Given the description of an element on the screen output the (x, y) to click on. 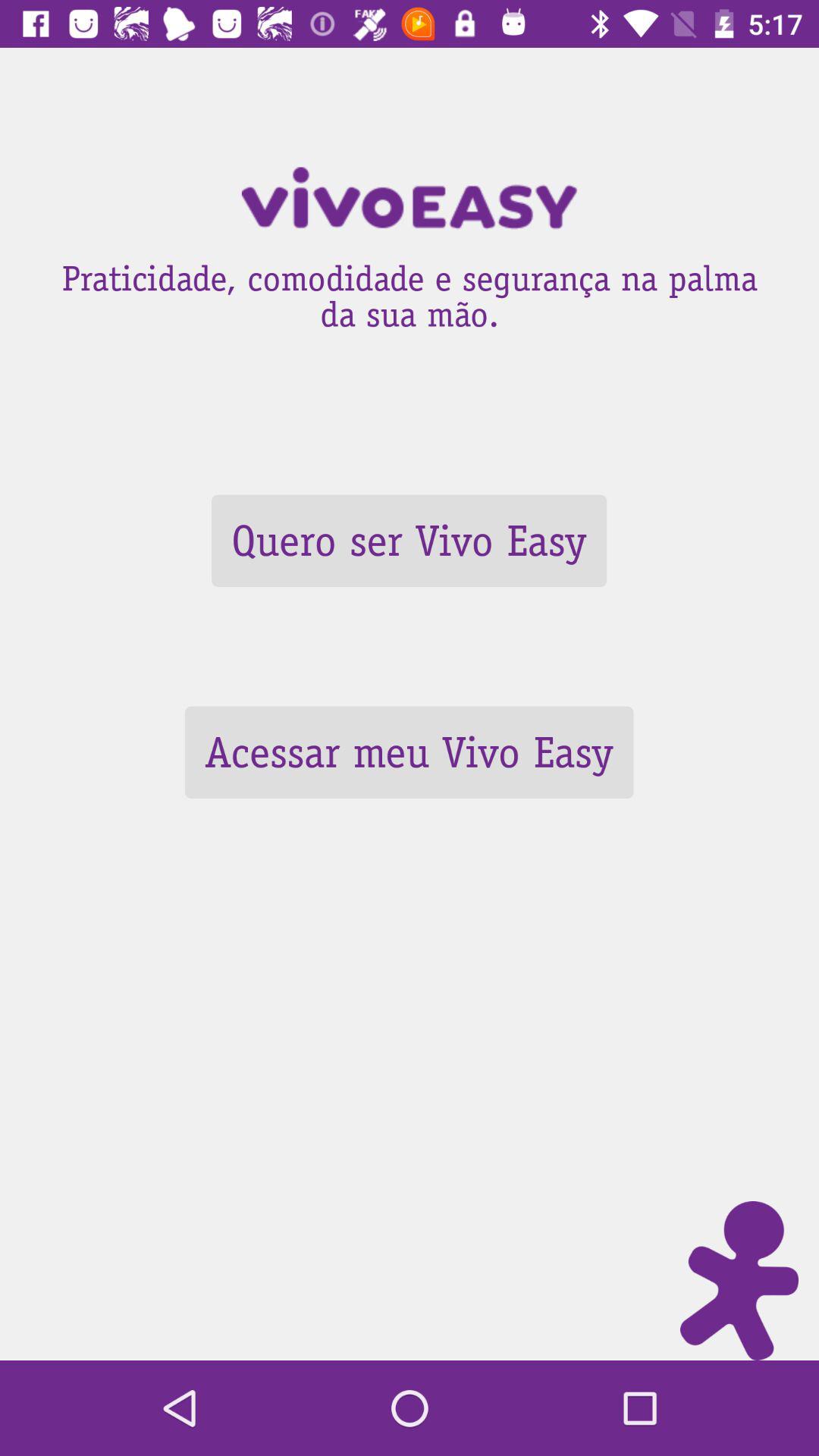
swipe until praticidade comodidade e item (409, 290)
